Given the description of an element on the screen output the (x, y) to click on. 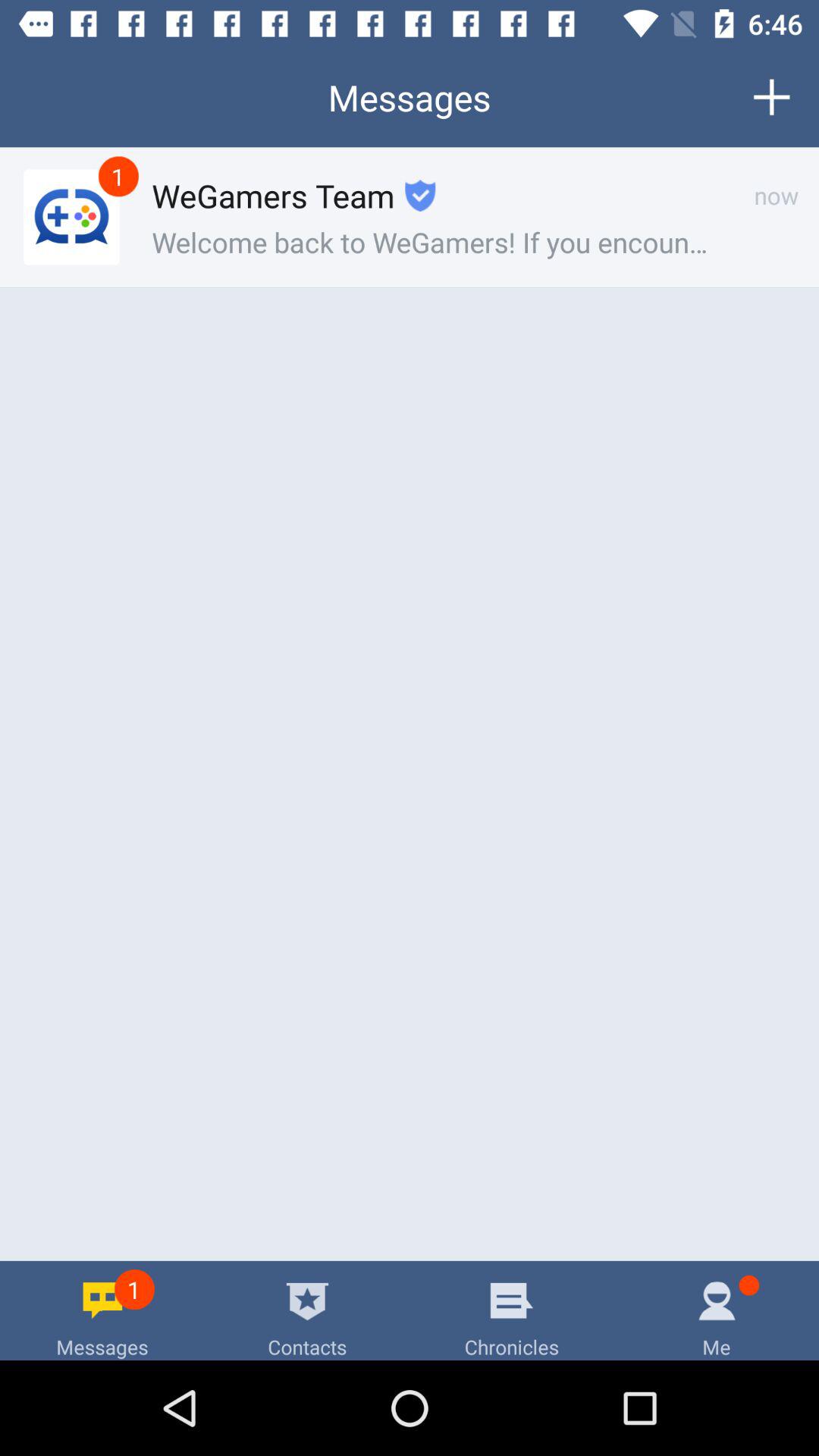
click the button on the top right corner of the web page (771, 97)
click the button on the bottom right corner of the web page (716, 1309)
